Given the description of an element on the screen output the (x, y) to click on. 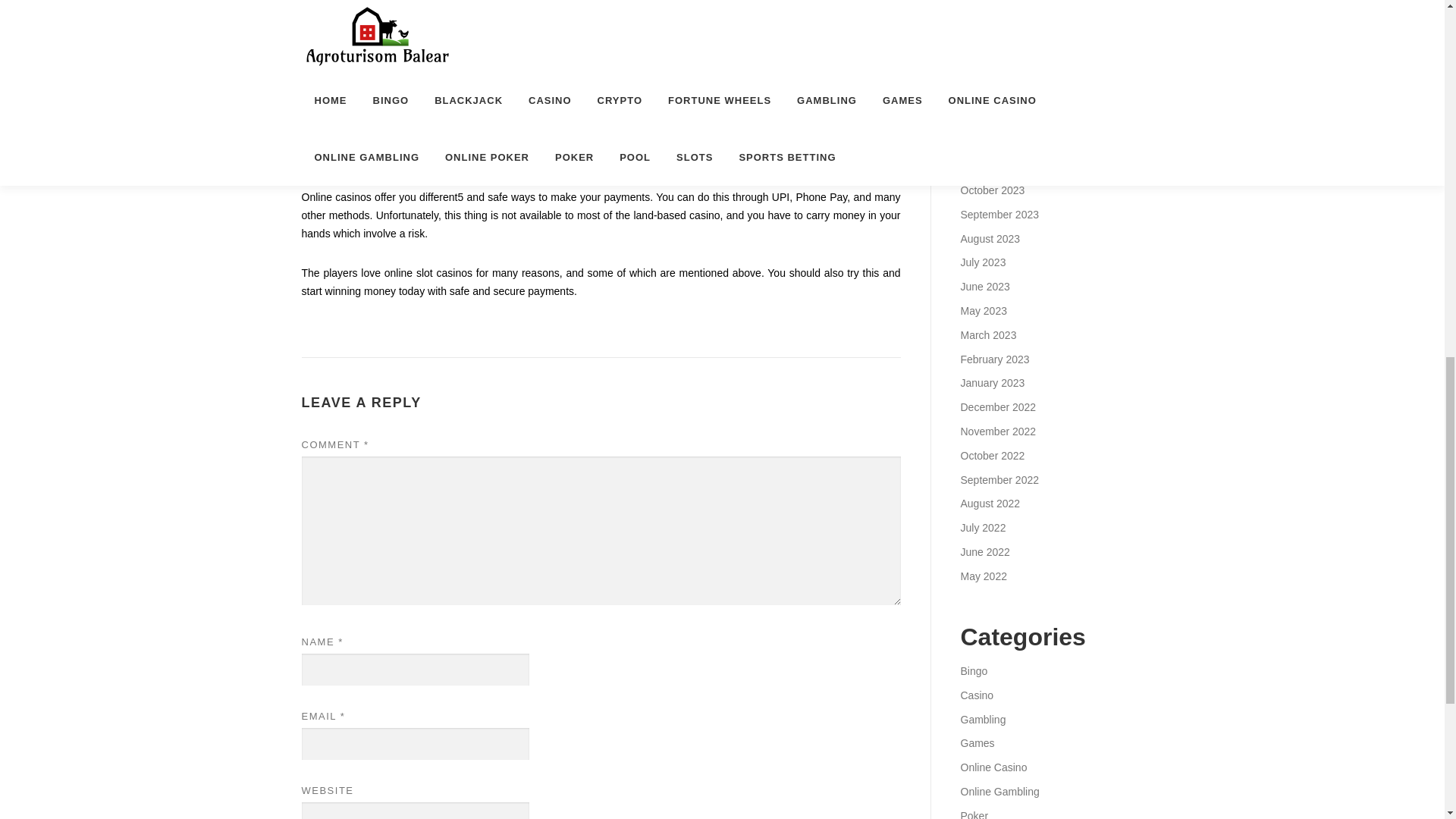
November 2023 (997, 165)
February 2024 (994, 93)
May 2024 (982, 21)
March 2024 (987, 69)
January 2024 (992, 118)
June 2024 (984, 2)
December 2023 (997, 141)
April 2024 (983, 45)
